Given the description of an element on the screen output the (x, y) to click on. 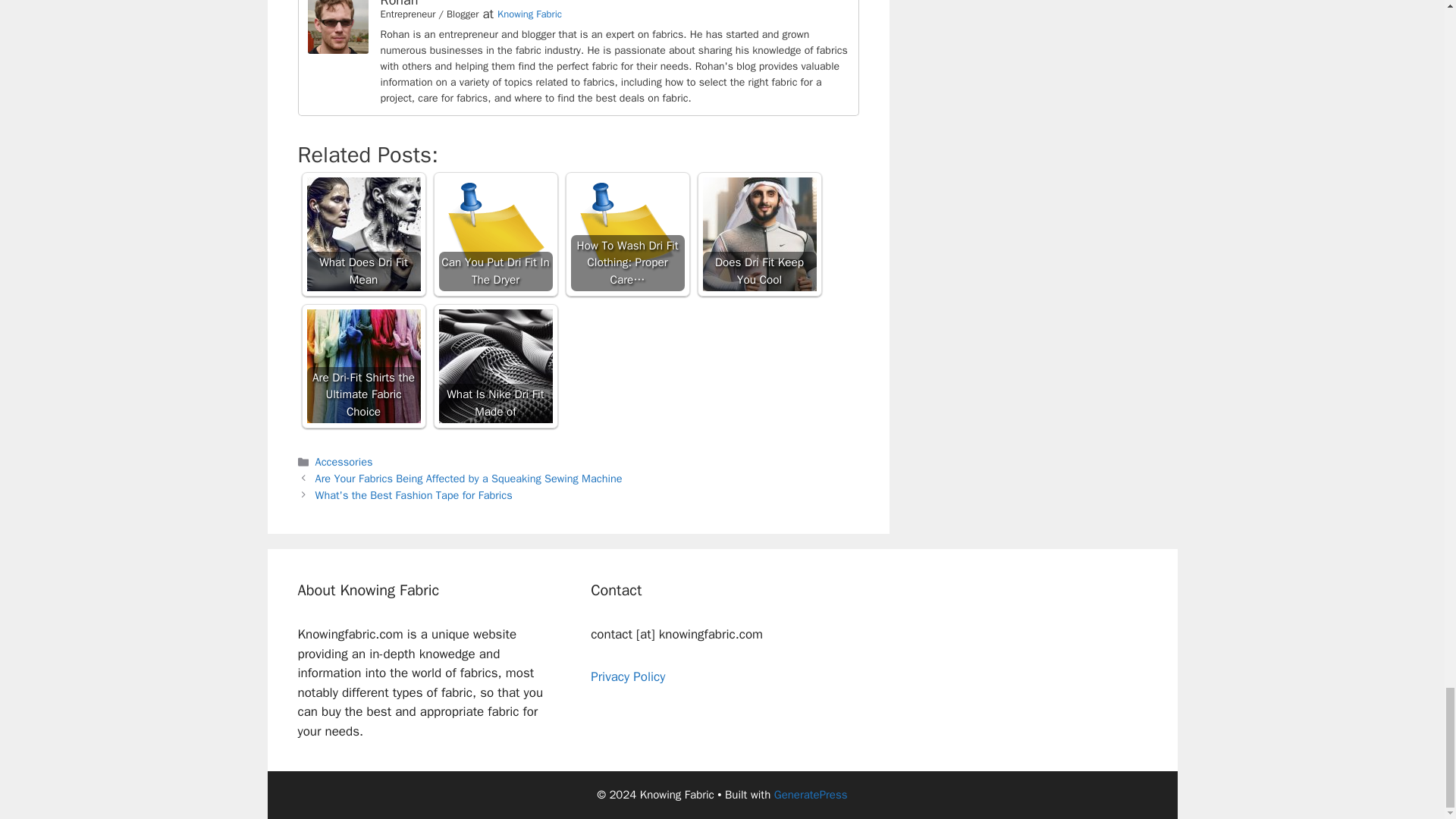
What's the Best Fashion Tape for Fabrics (413, 495)
Does Dri Fit Keep You Cool (758, 234)
Privacy Policy (628, 676)
Rohan (337, 49)
Knowing Fabric (529, 13)
Can You Put Dri Fit In The Dryer (494, 234)
Rohan (399, 4)
What Does Dri Fit Mean (362, 234)
Does Dri Fit Keep You Cool (758, 234)
Are Dri-Fit Shirts the Ultimate Fabric Choice (362, 366)
What Is Nike Dri Fit Made of (494, 366)
What Does Dri Fit Mean (362, 234)
Can You Put Dri Fit In The Dryer (494, 234)
